Given the description of an element on the screen output the (x, y) to click on. 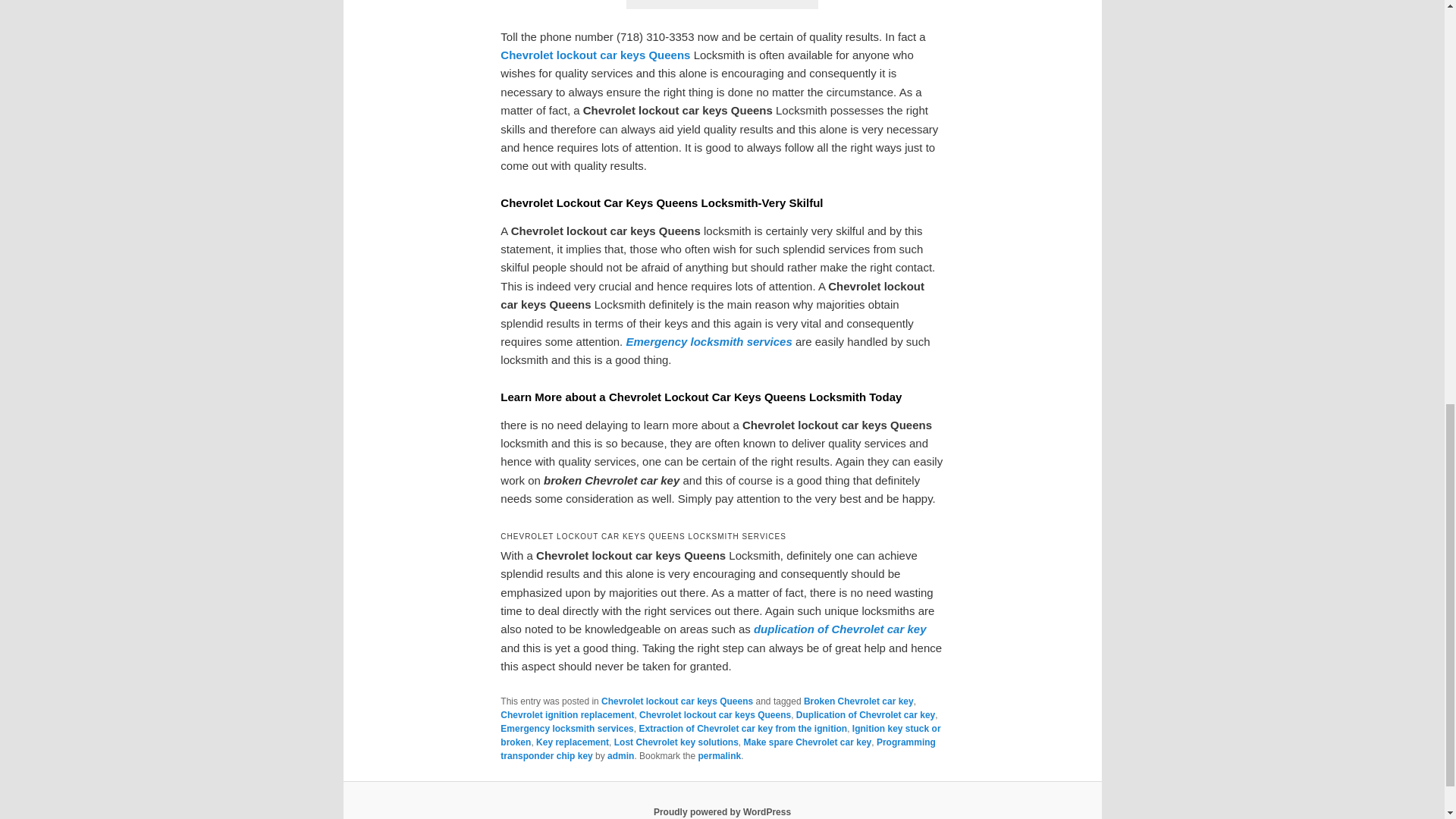
Extraction of Chevrolet car key from the ignition (743, 728)
Lost Chevrolet key solutions (676, 742)
Duplication of Chevrolet car key (865, 715)
permalink (719, 756)
Emergency locksmith services (566, 728)
Emergency locksmith services (709, 341)
Make spare Chevrolet car key (806, 742)
Broken Chevrolet car key (858, 701)
Chevrolet lockout car keys Queens (714, 715)
Semantic Personal Publishing Platform (721, 811)
